Given the description of an element on the screen output the (x, y) to click on. 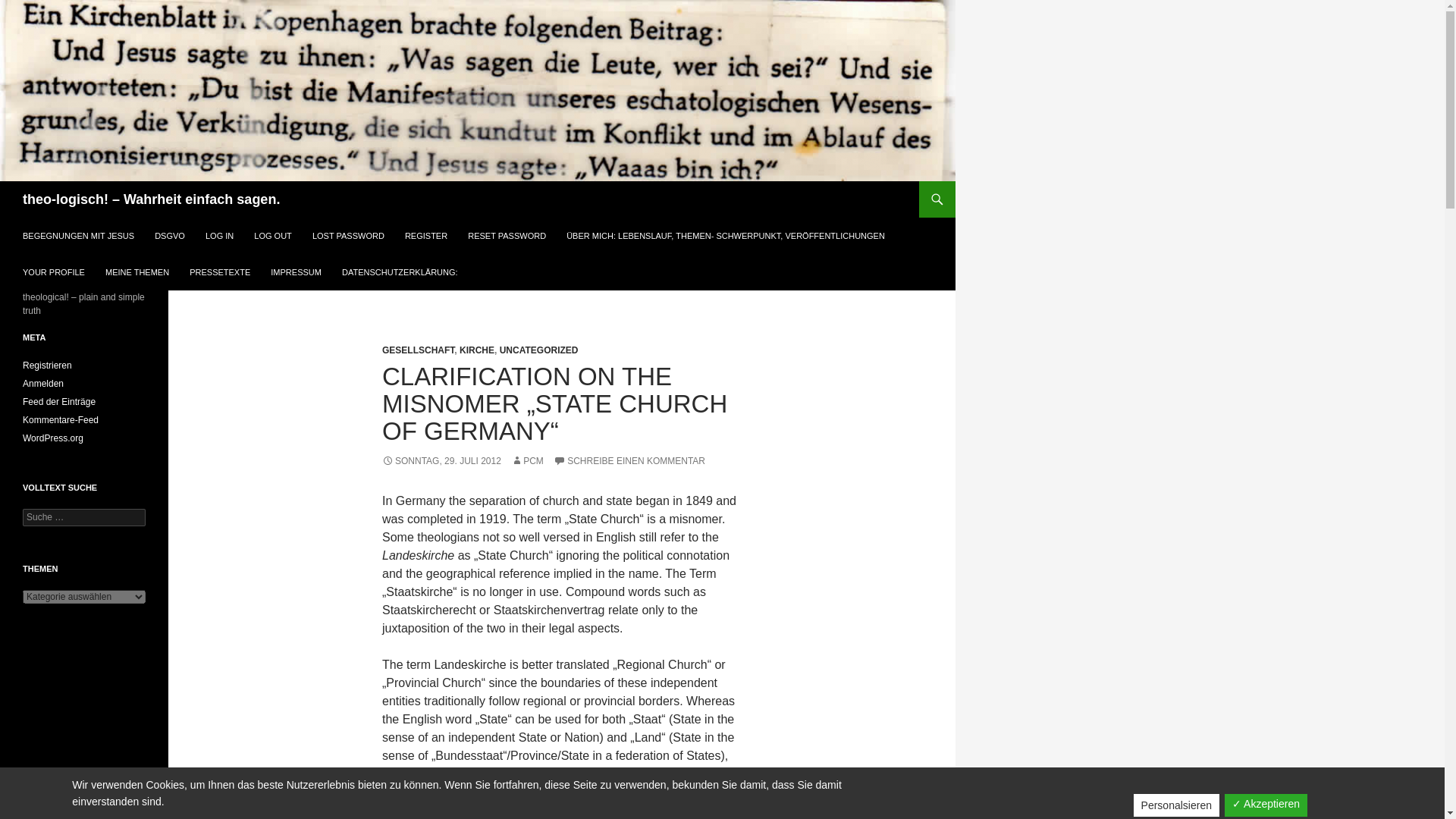
UNCATEGORIZED (538, 349)
SONNTAG, 29. JULI 2012 (440, 460)
IMPRESSUM (296, 271)
LOST PASSWORD (347, 235)
SCHREIBE EINEN KOMMENTAR (628, 460)
GESELLSCHAFT (417, 349)
PRESSETEXTE (219, 271)
KIRCHE (477, 349)
